Given the description of an element on the screen output the (x, y) to click on. 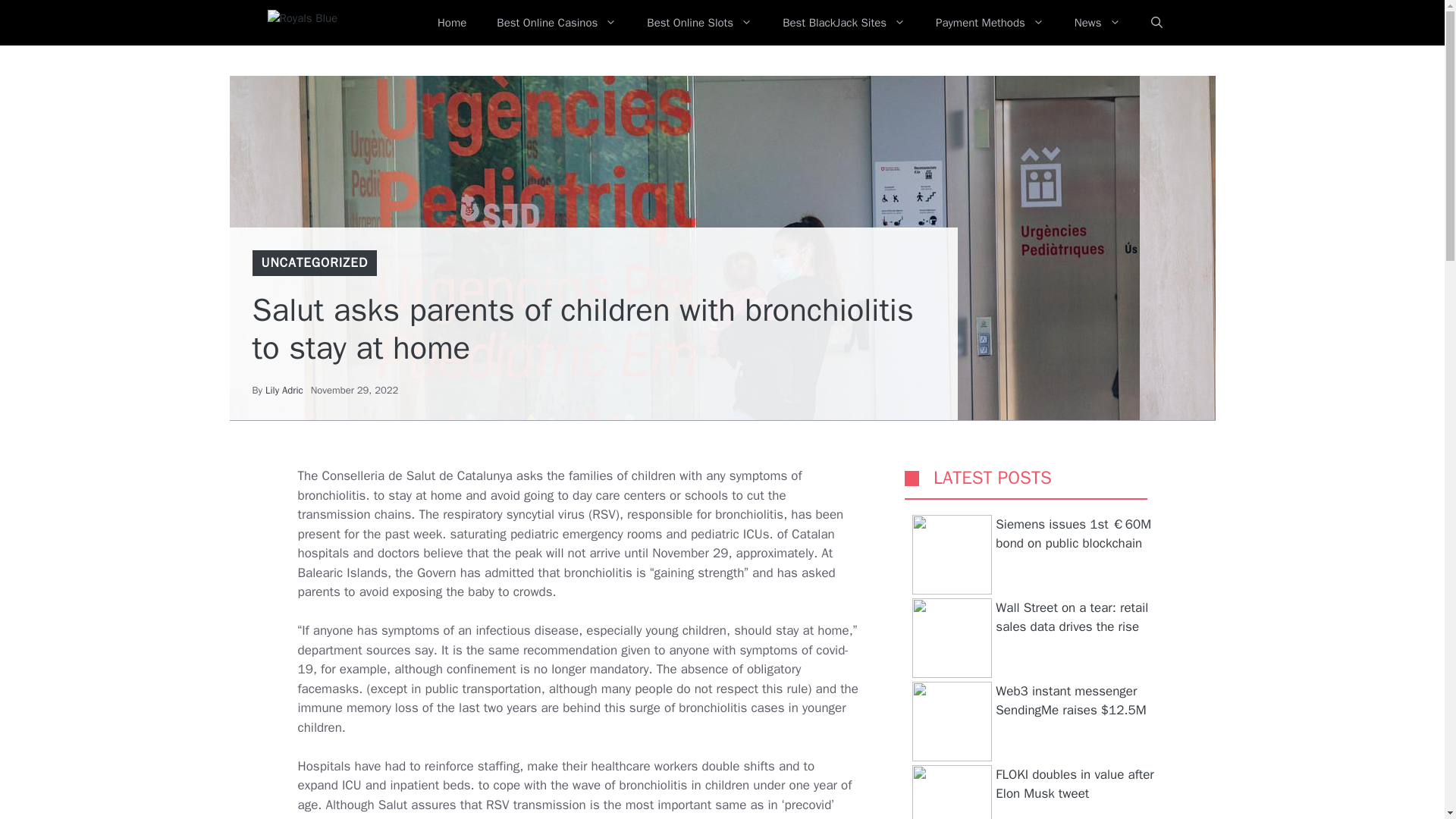
Best Online Casinos (556, 22)
Royals Blue (331, 22)
News (1097, 22)
Best Online Slots (699, 22)
Lily Adric (283, 390)
Home (451, 22)
SORRY, YOUR BROWSER DOES NOT SUPPORT INLINE SVG. (911, 477)
Best BlackJack Sites (843, 22)
UNCATEGORIZED (314, 262)
Payment Methods (989, 22)
